Given the description of an element on the screen output the (x, y) to click on. 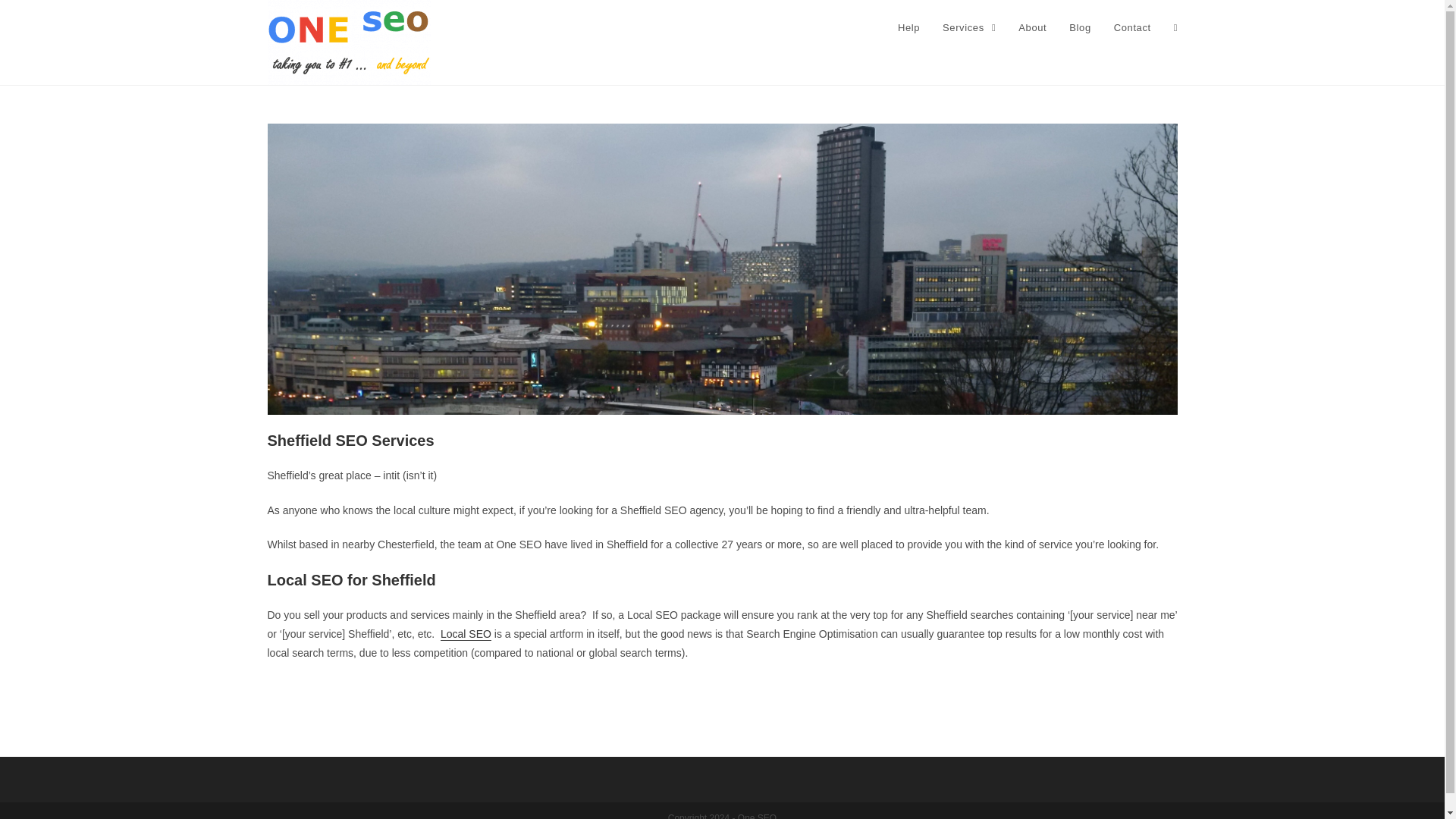
Services (969, 28)
Contact (1131, 28)
Local SEO (466, 633)
About (1032, 28)
